Given the description of an element on the screen output the (x, y) to click on. 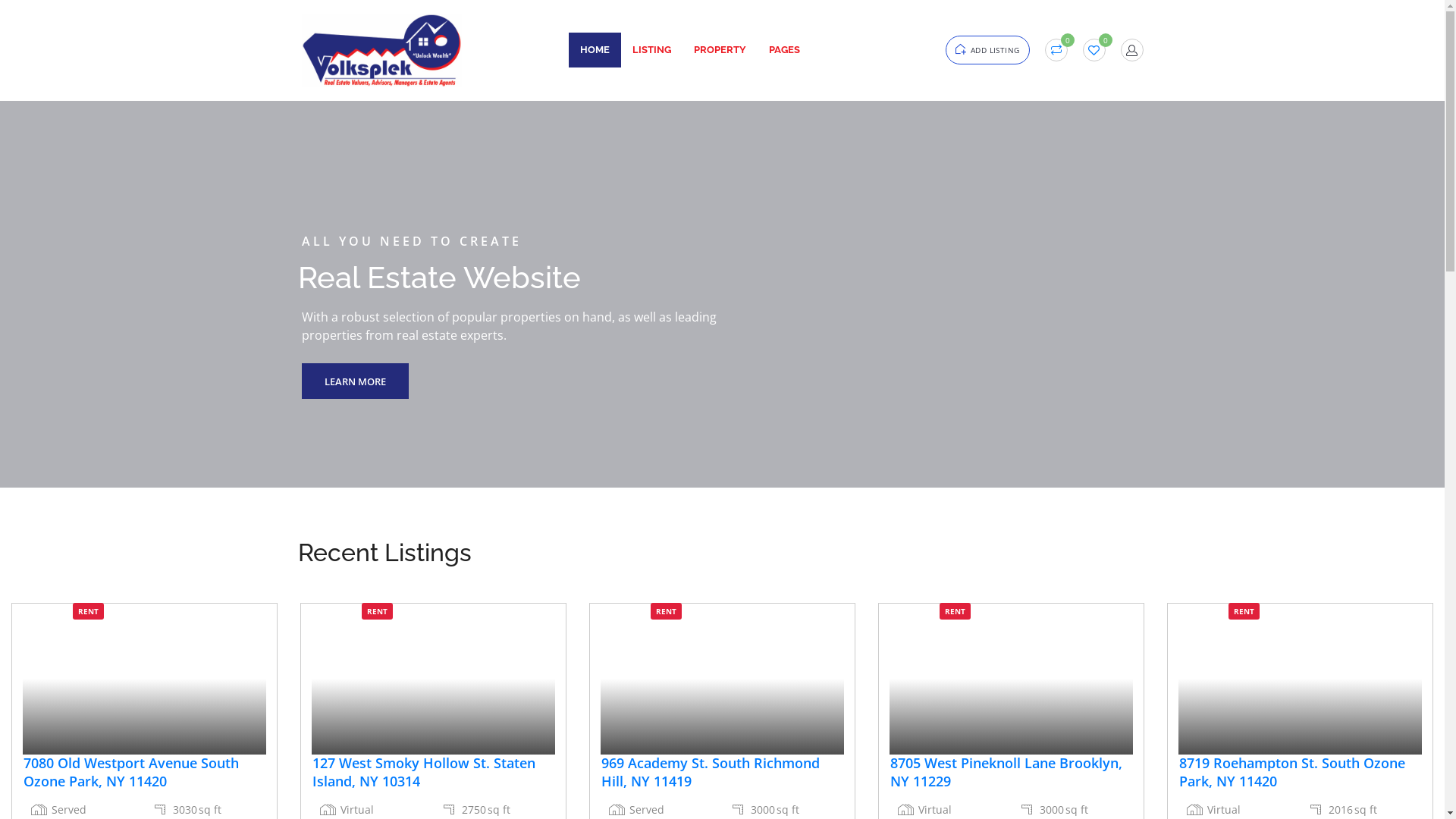
PAGES Element type: text (784, 49)
PROPERTY Element type: text (719, 49)
969 Academy St. South Richmond Hill, NY 11419 Element type: text (722, 771)
ADD LISTING Element type: text (987, 49)
LEARN MORE Element type: text (354, 380)
127 West Smoky Hollow St. Staten Island, NY 10314 Element type: text (433, 771)
8719 Roehampton St. South Ozone Park, NY 11420 Element type: text (1300, 771)
0 Element type: text (1055, 49)
7080 Old Westport Avenue South Ozone Park, NY 11420 Element type: text (144, 771)
HOME Element type: text (594, 49)
8705 West Pineknoll Lane Brooklyn, NY 11229 Element type: text (1011, 771)
LISTING Element type: text (651, 49)
0 Element type: text (1093, 49)
